Given the description of an element on the screen output the (x, y) to click on. 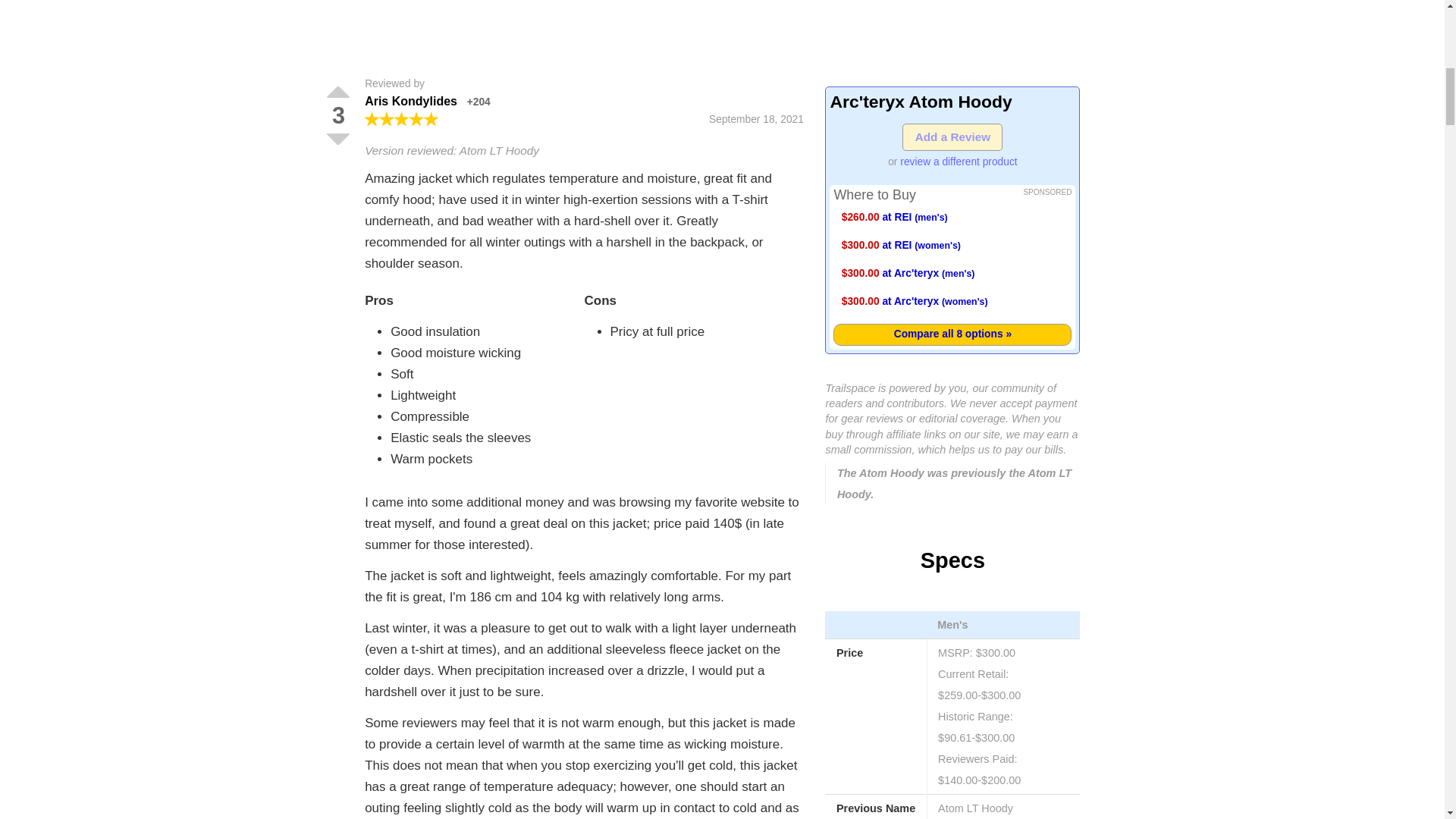
Vote up if this review is useful (337, 91)
Vote down if this review is not useful (337, 138)
Reviewer Reputation (478, 101)
